Given the description of an element on the screen output the (x, y) to click on. 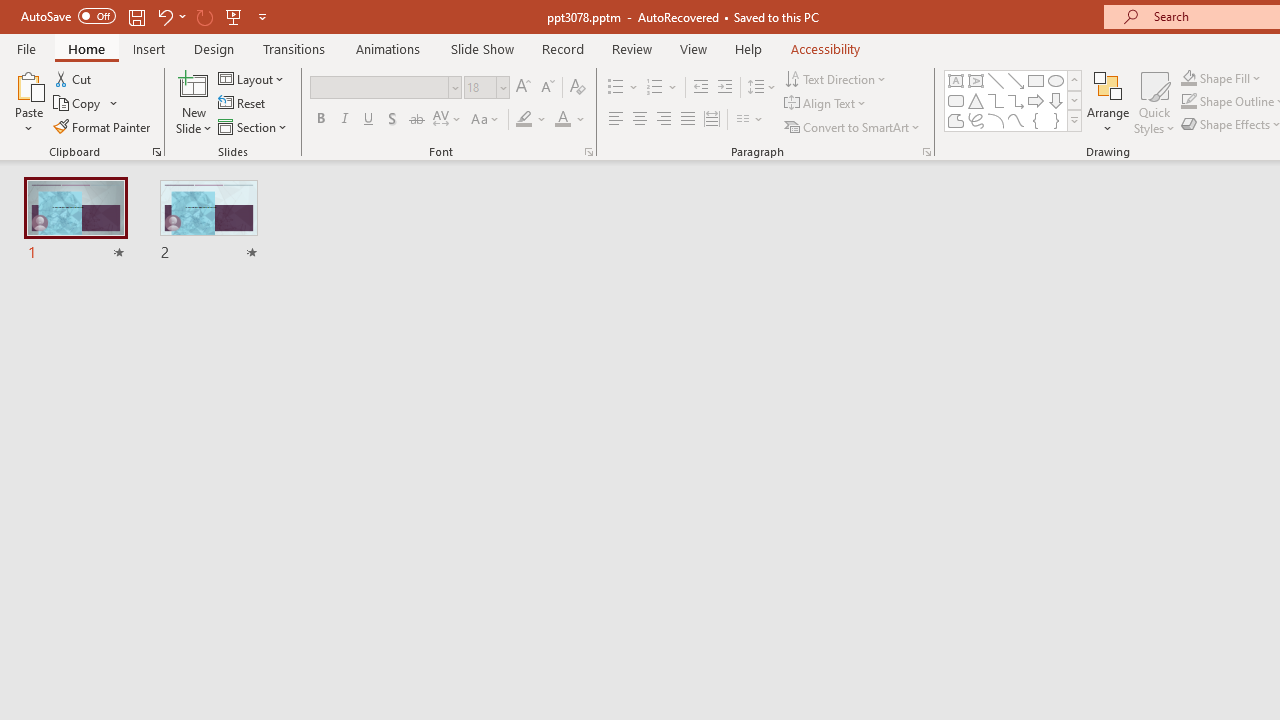
Arrow: Right (1035, 100)
Justify (687, 119)
Line Arrow (1016, 80)
Shape Outline Green, Accent 1 (1188, 101)
